Given the description of an element on the screen output the (x, y) to click on. 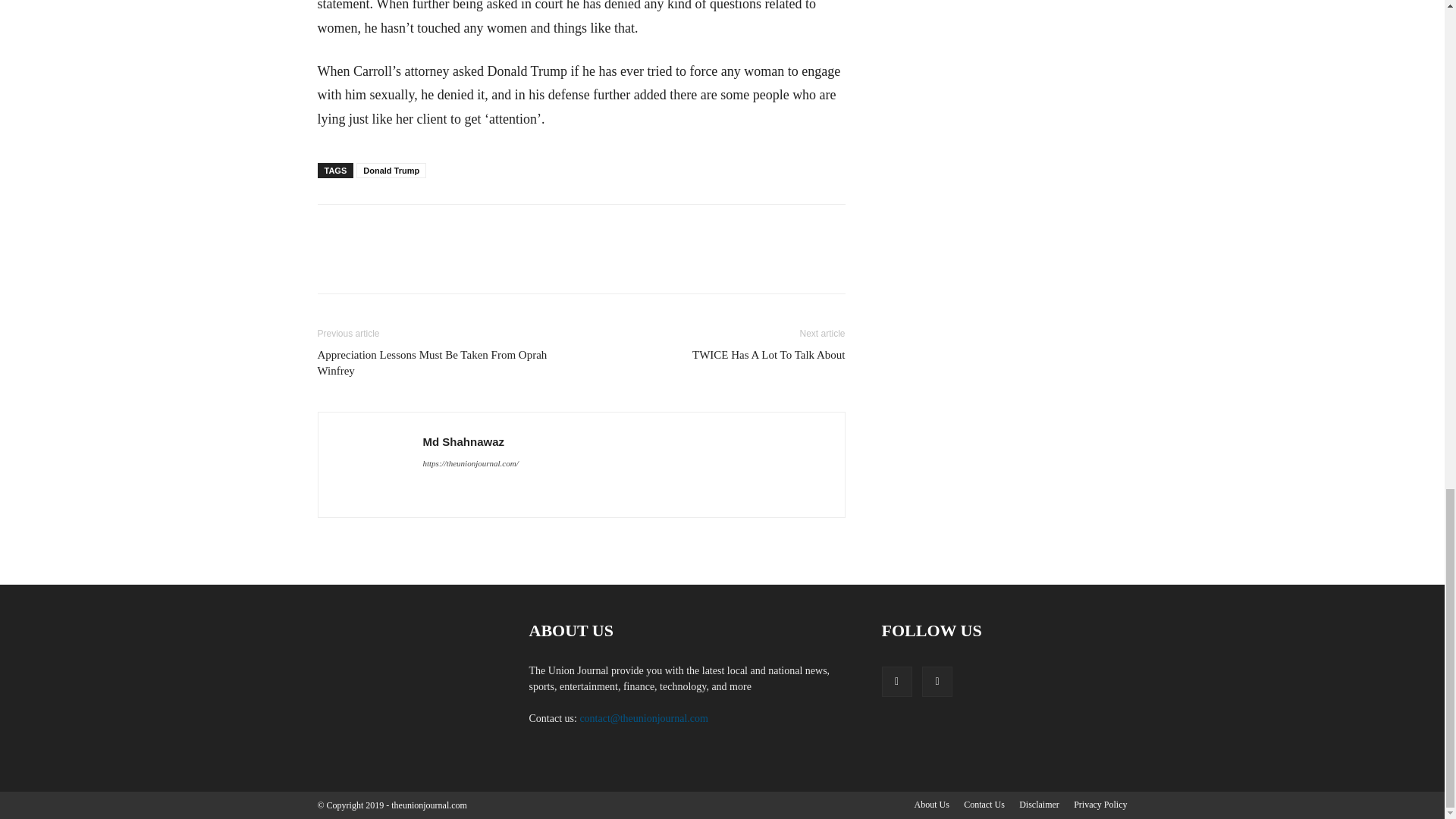
bottomFacebookLike (430, 228)
